Given the description of an element on the screen output the (x, y) to click on. 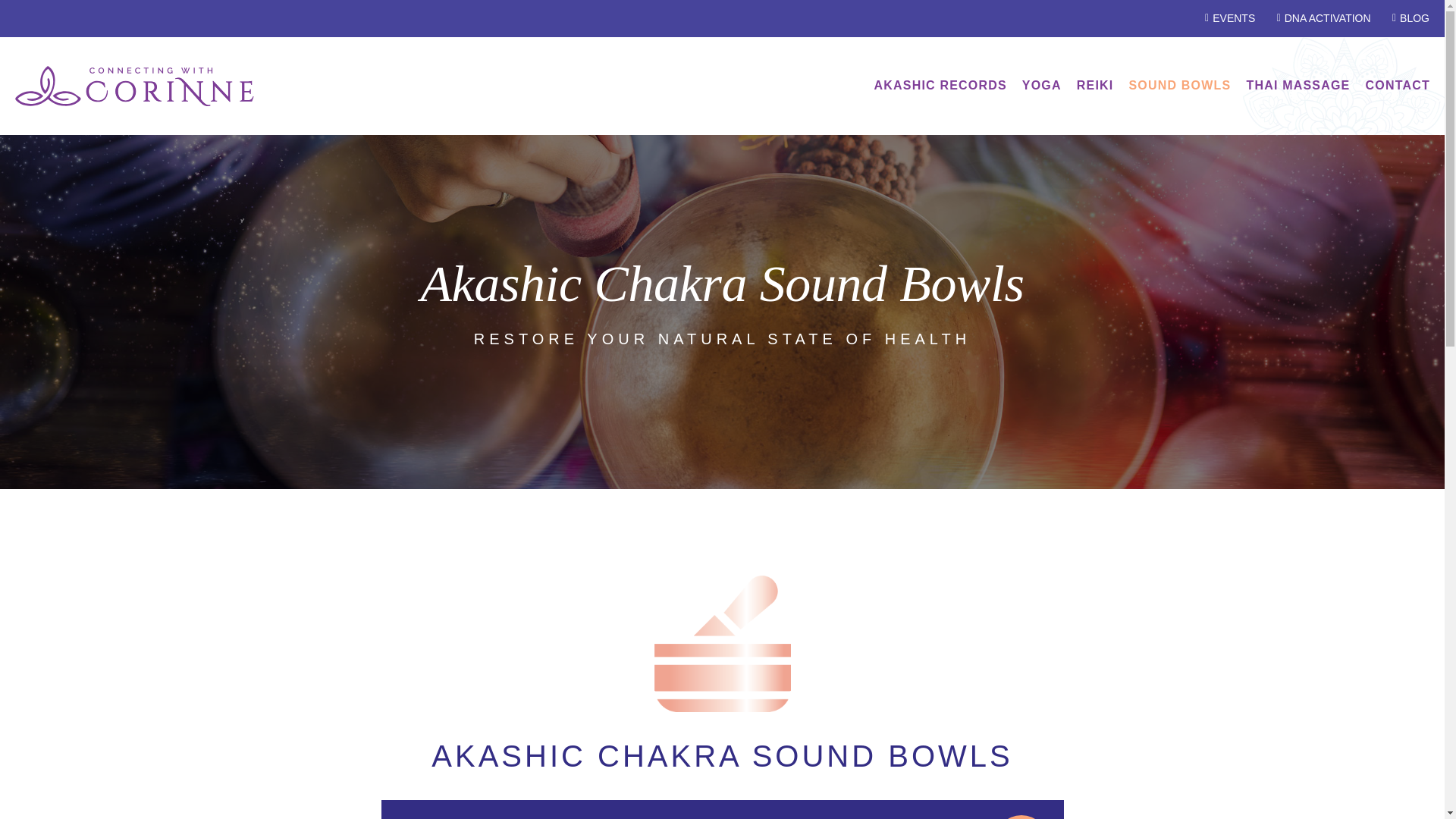
YOGA (1041, 85)
CONTACT (1397, 85)
REIKI (1095, 85)
EVENTS (1225, 18)
SOUND BOWLS (1179, 85)
THAI MASSAGE (1297, 85)
BLOG (1406, 18)
AKASHIC RECORDS (939, 85)
DNA ACTIVATION (1318, 18)
